Given the description of an element on the screen output the (x, y) to click on. 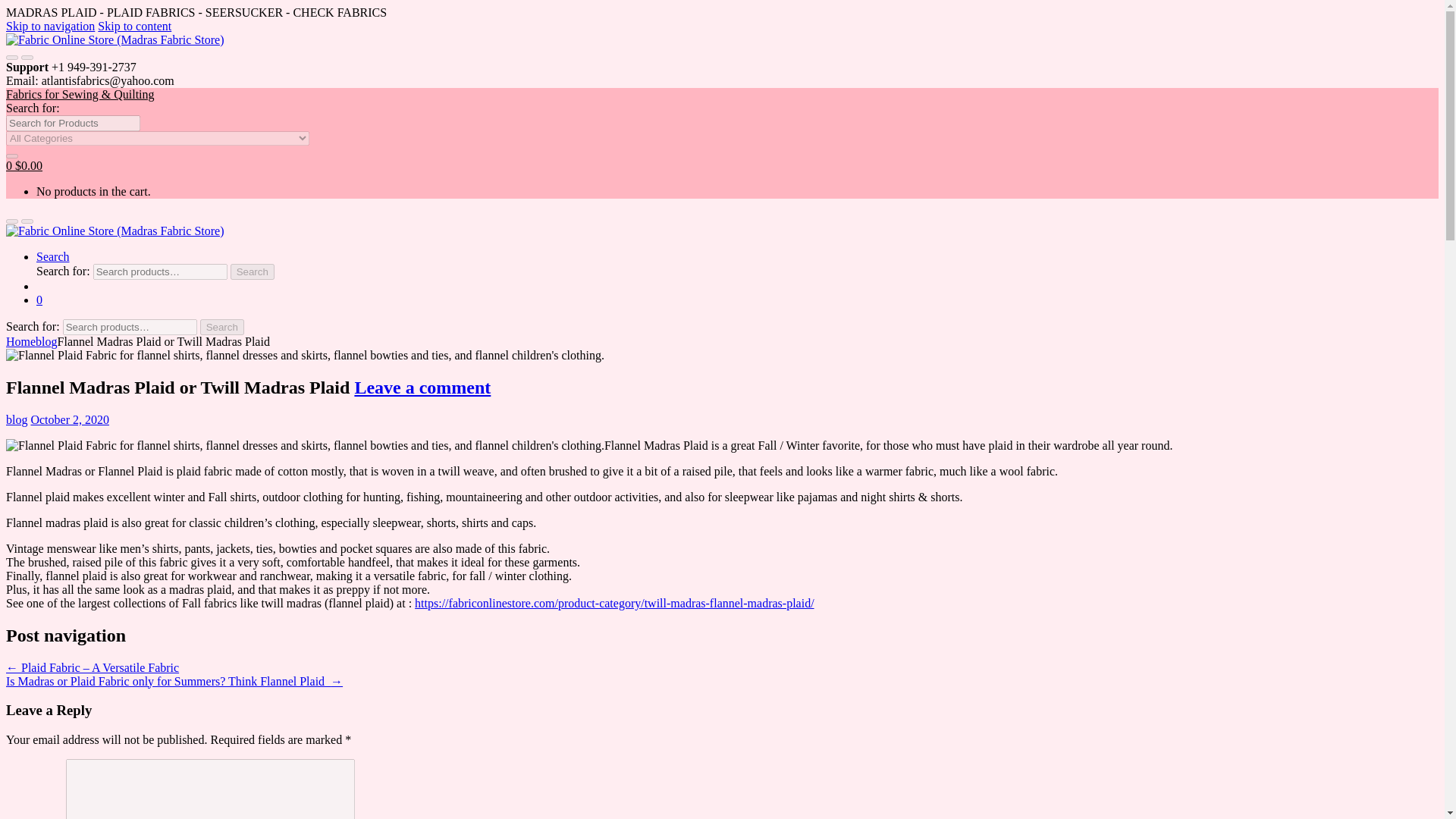
blog (45, 341)
Home (19, 341)
blog (16, 419)
Skip to navigation (49, 25)
Skip to content (134, 25)
Search (52, 256)
October 2, 2020 (69, 419)
Search (252, 271)
Leave a comment (421, 387)
Search (222, 326)
